Given the description of an element on the screen output the (x, y) to click on. 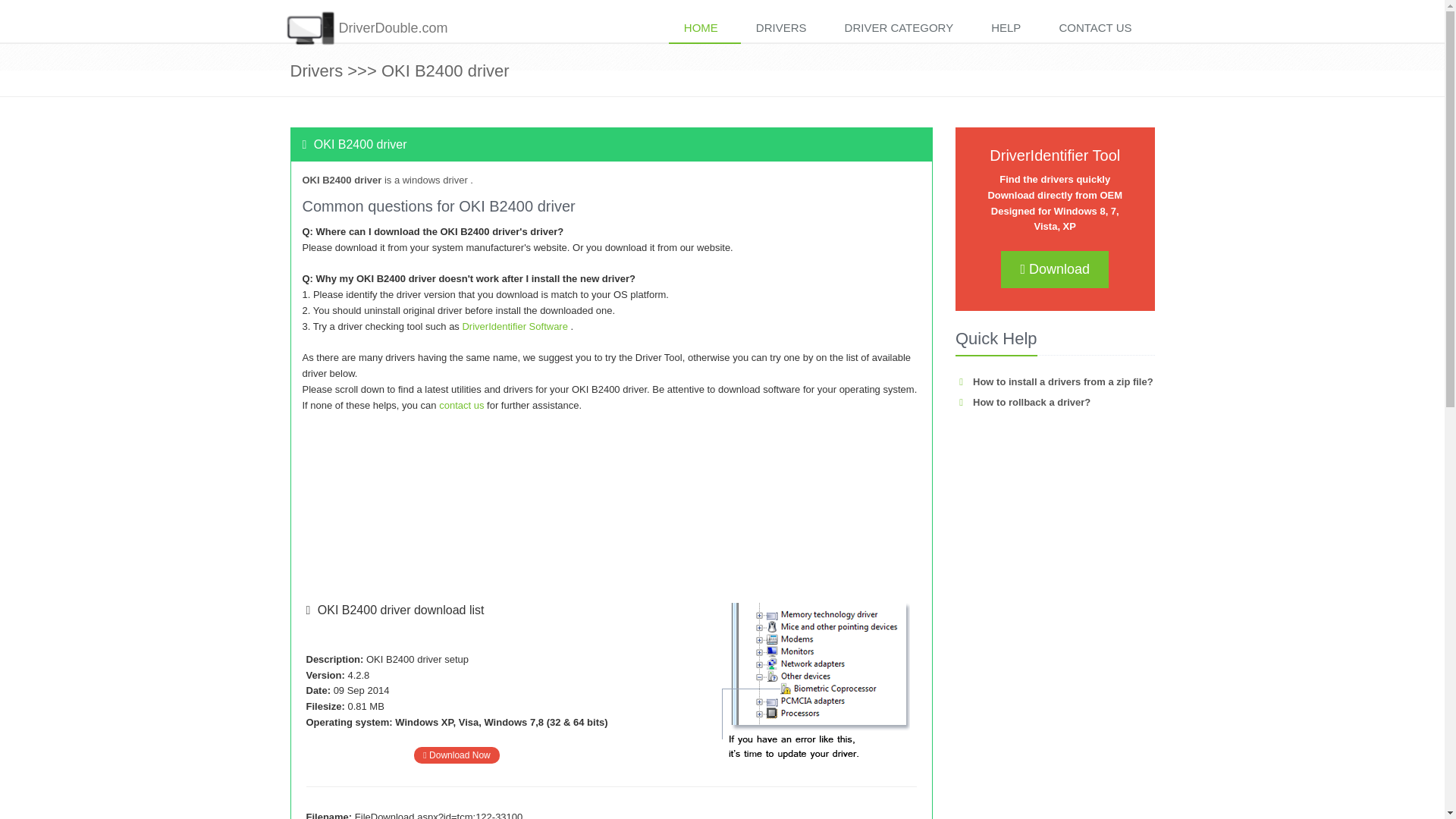
DriverIdentifier Software (515, 326)
Download (1054, 269)
How to rollback a driver? (1022, 401)
contact us (461, 405)
CONTACT US (1098, 28)
OKI B2400 driver error (811, 680)
How to install a drivers from a zip file? (1054, 381)
DRIVER CATEGORY (902, 28)
DRIVERS (785, 28)
Download Now (456, 754)
